Given the description of an element on the screen output the (x, y) to click on. 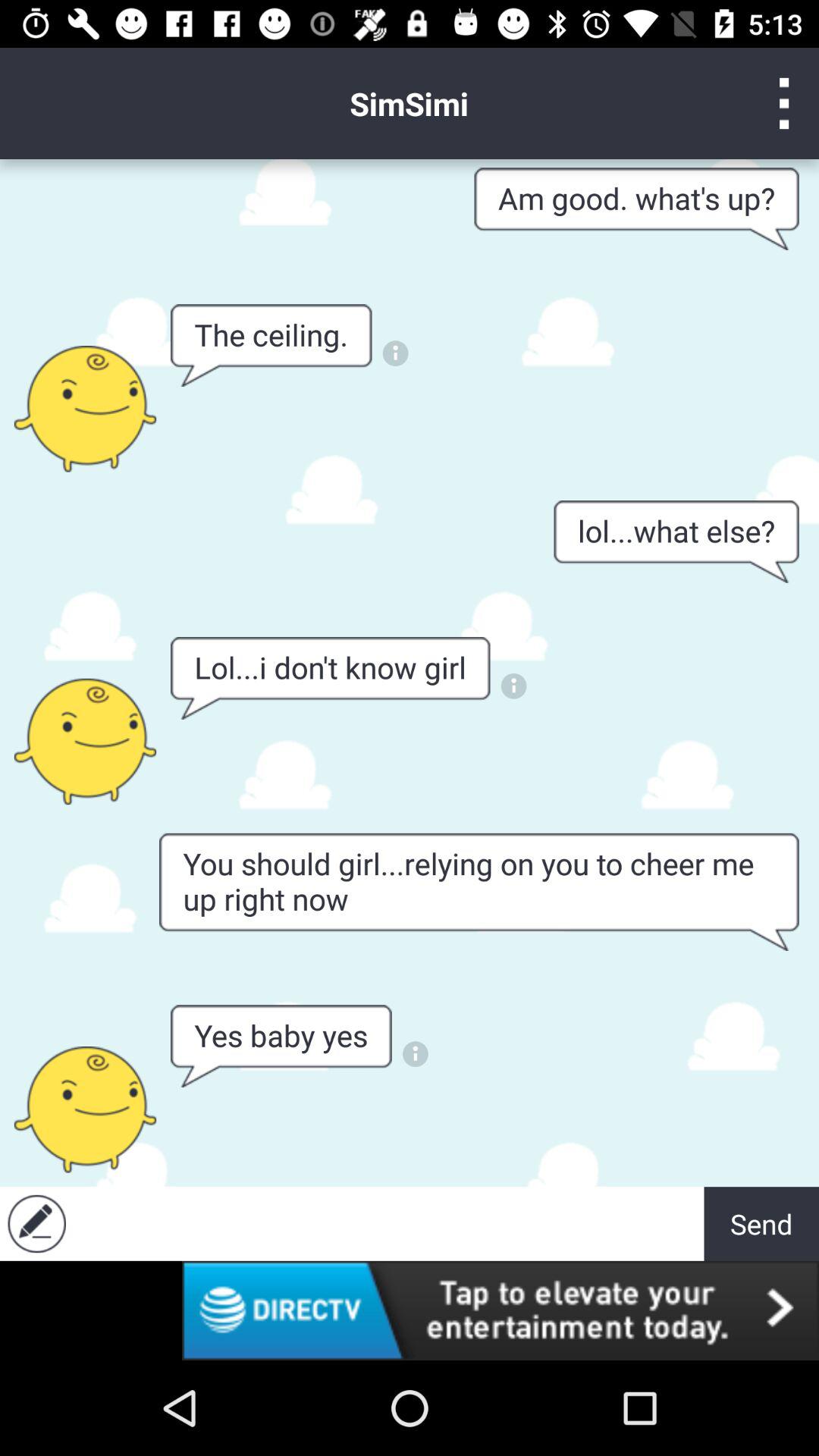
menu (784, 103)
